Given the description of an element on the screen output the (x, y) to click on. 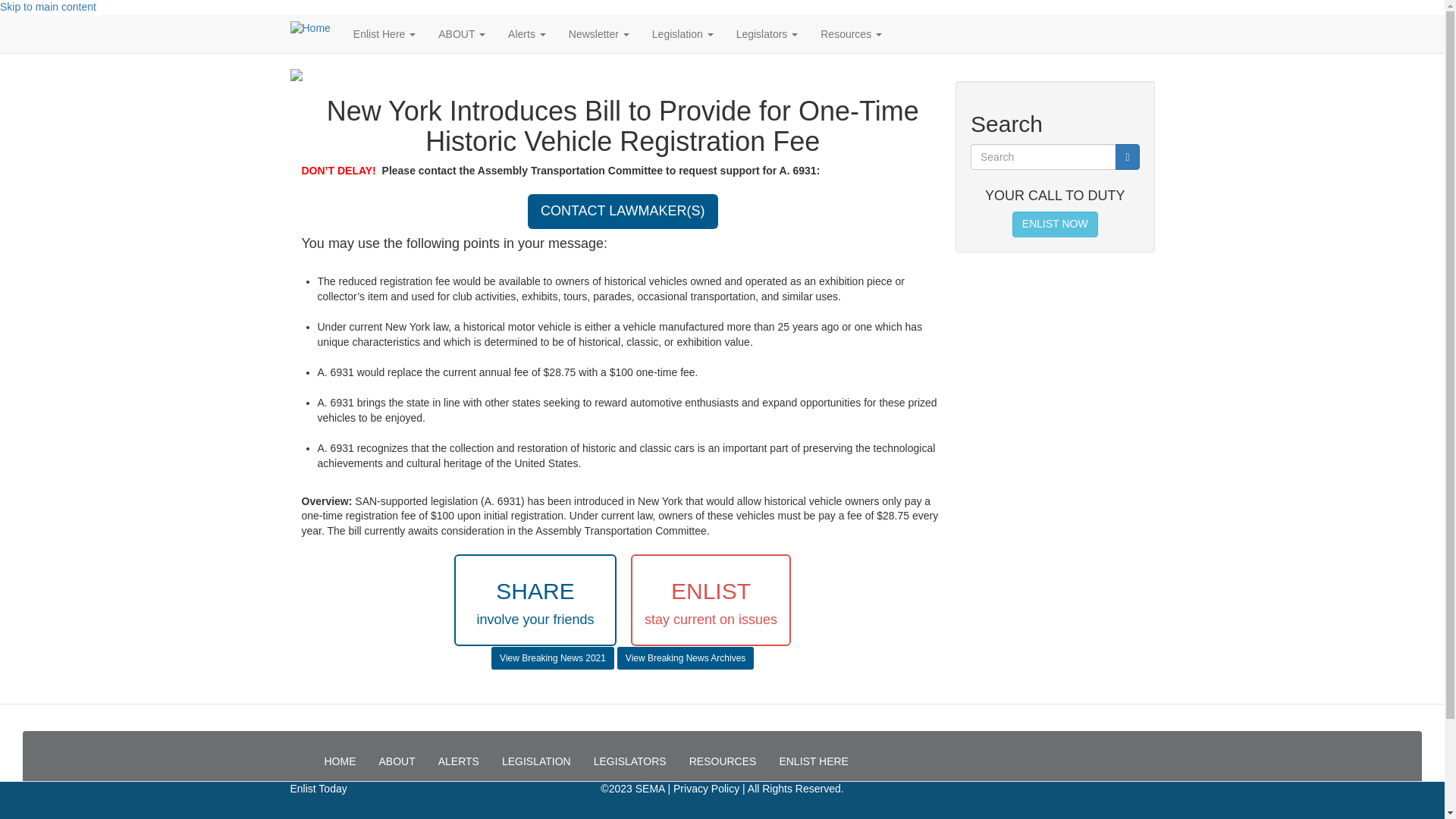
Enter the terms you wish to search for. (1043, 156)
Enlist Here (384, 34)
ABOUT (461, 34)
Home (314, 28)
Legislators (767, 34)
Resources (851, 34)
Skip to main content (48, 6)
Newsletter (598, 34)
Legislation (682, 34)
Alerts (526, 34)
